Given the description of an element on the screen output the (x, y) to click on. 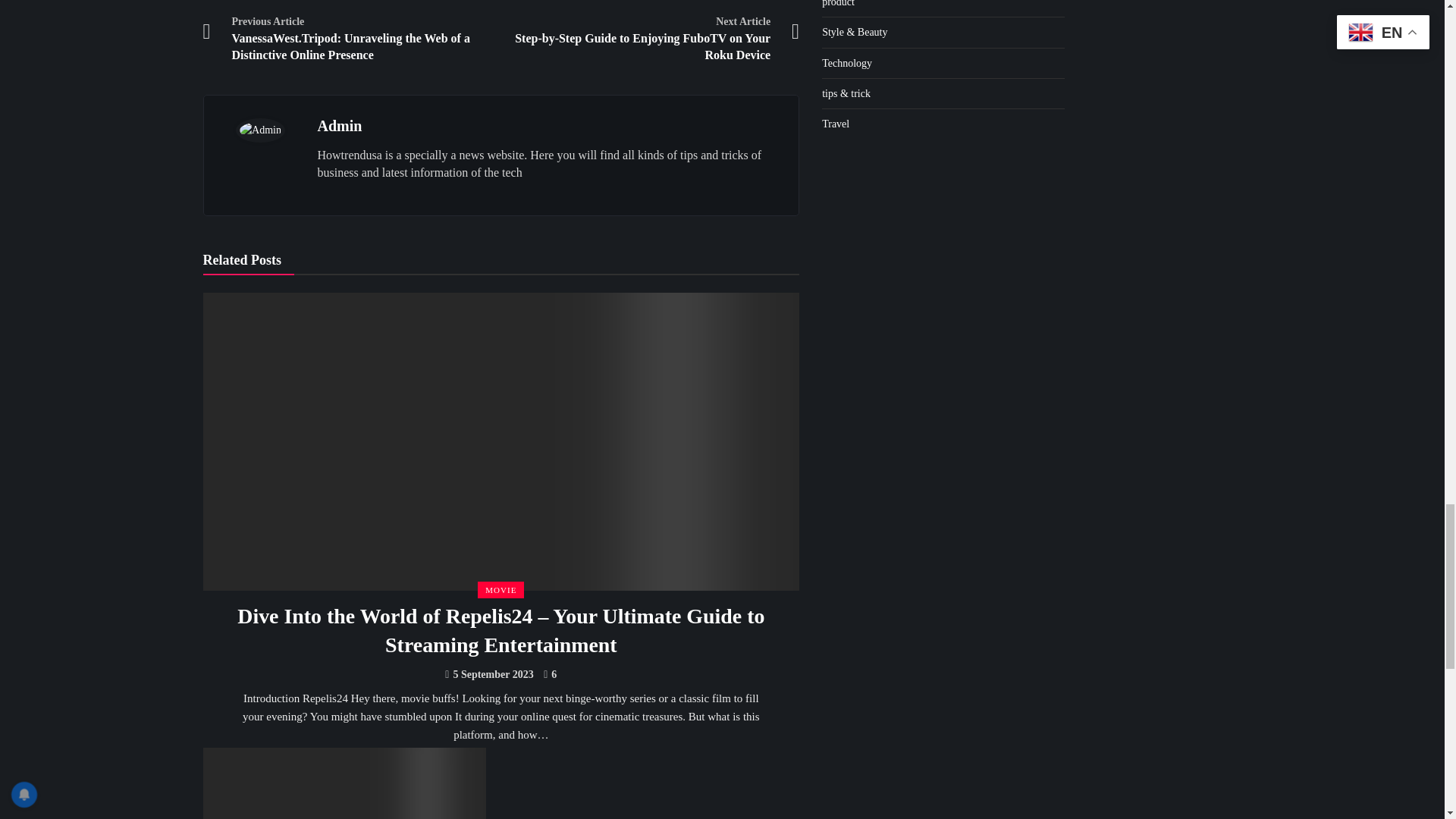
Step-by-Step Guide to Enjoying FuboTV on Your Roku Device (344, 783)
